Given the description of an element on the screen output the (x, y) to click on. 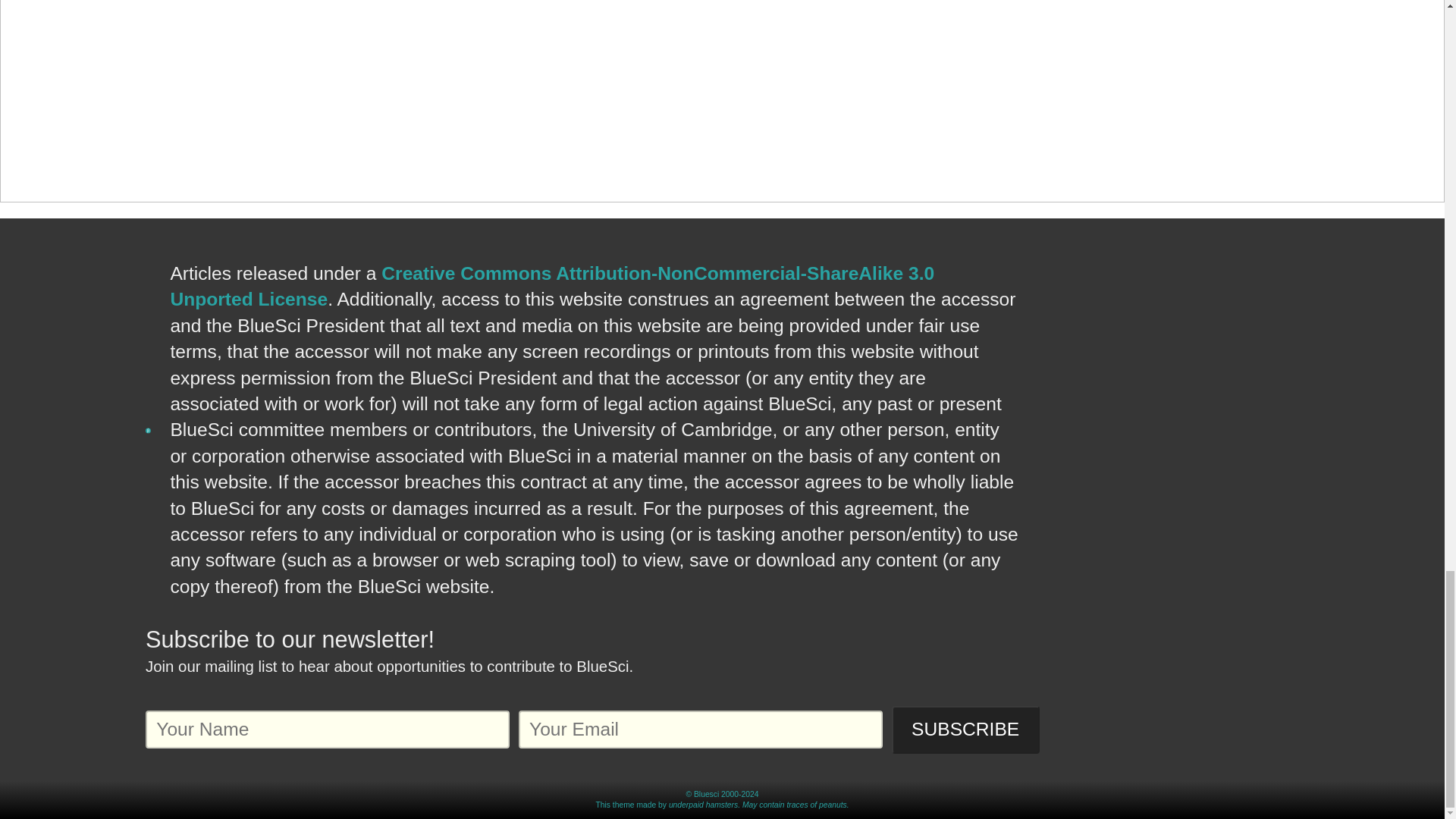
SUBSCRIBE (965, 729)
SUBSCRIBE (965, 729)
